Given the description of an element on the screen output the (x, y) to click on. 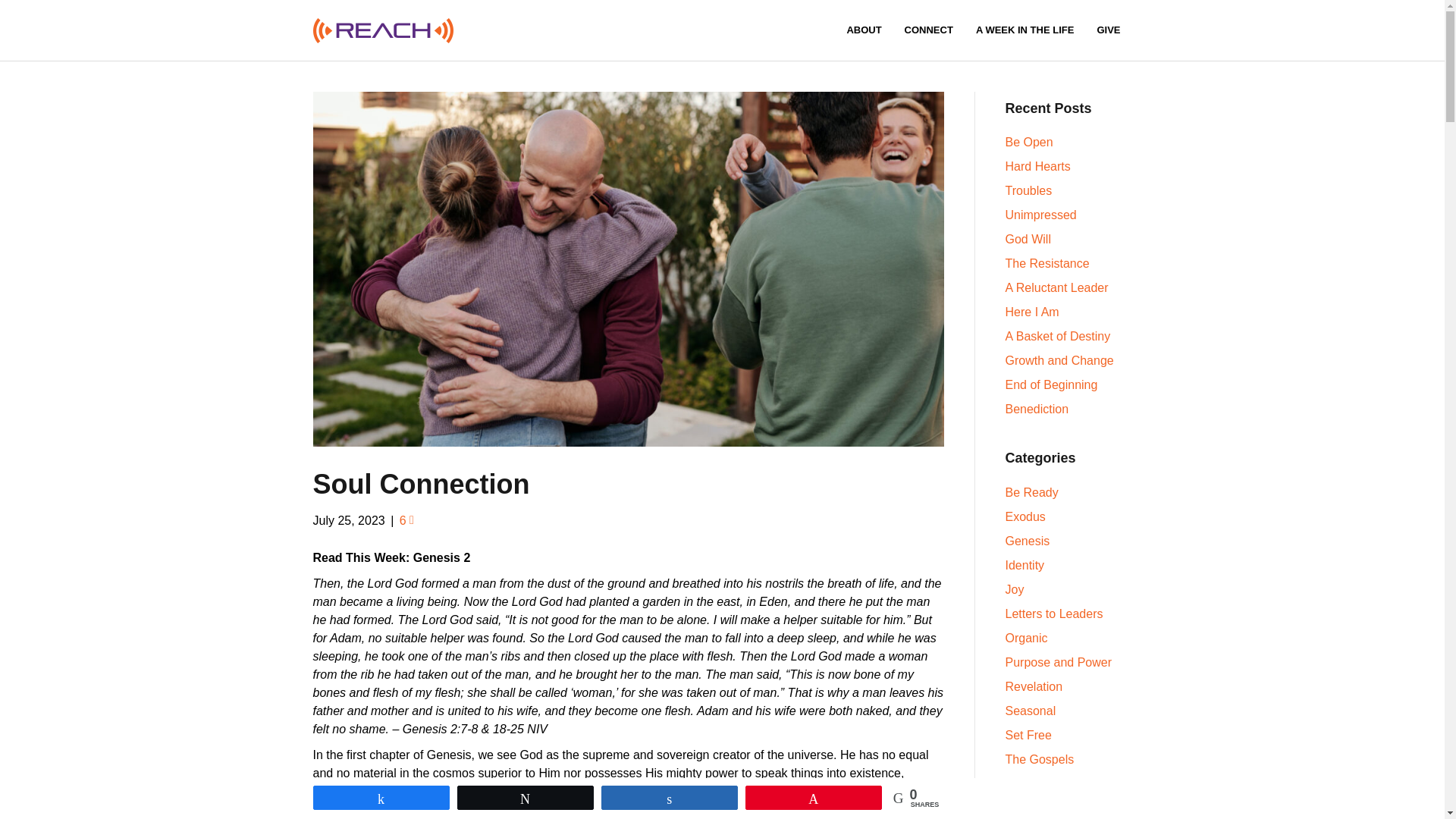
ABOUT (863, 30)
Here I Am (1032, 311)
End of Beginning (1051, 384)
Benediction (1037, 408)
6 (405, 520)
God Will (1028, 238)
A Basket of Destiny (1058, 336)
Unimpressed (1041, 214)
Be Open (1029, 141)
Troubles (1029, 190)
